Given the description of an element on the screen output the (x, y) to click on. 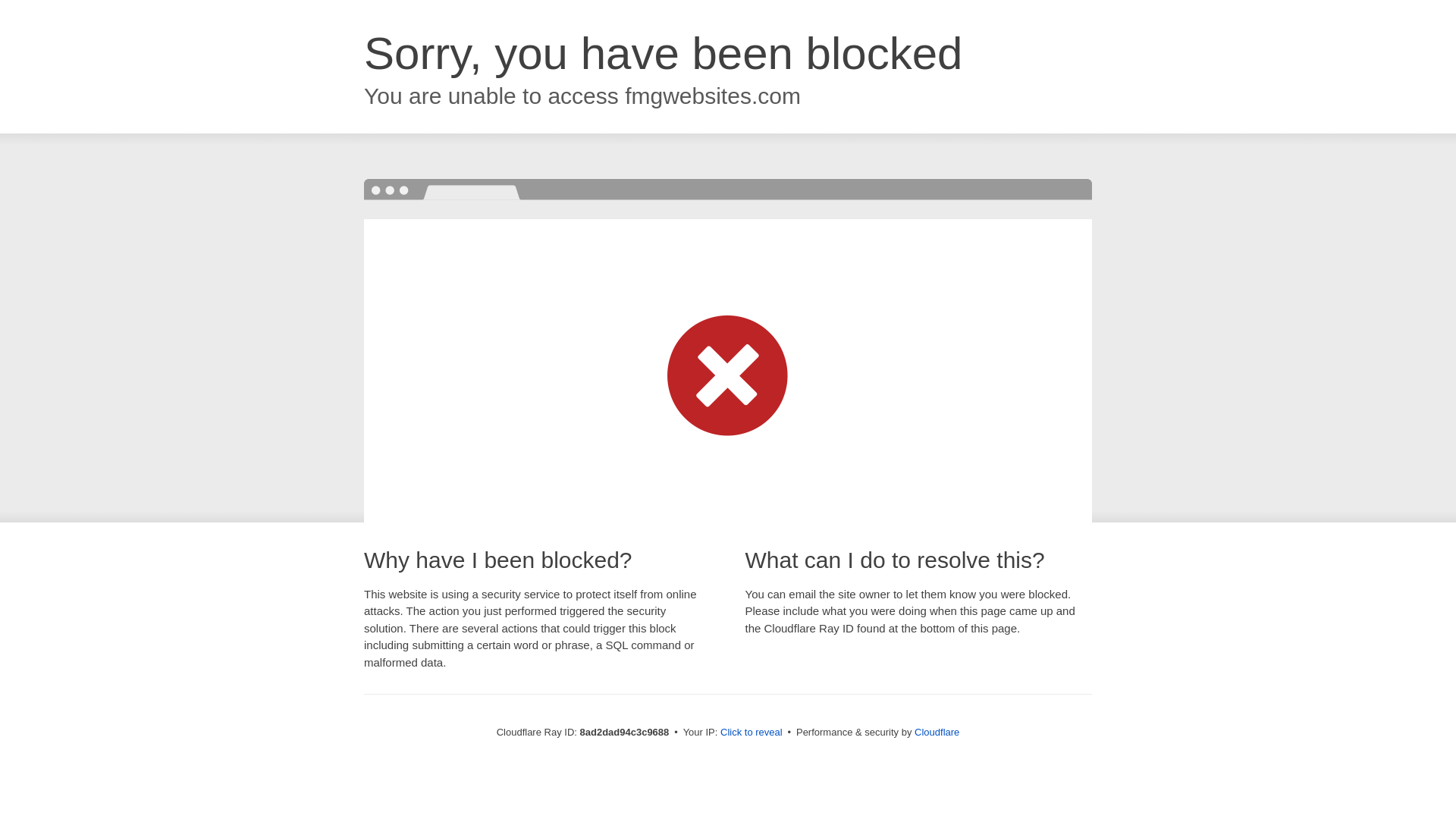
Cloudflare (936, 731)
Click to reveal (751, 732)
